Given the description of an element on the screen output the (x, y) to click on. 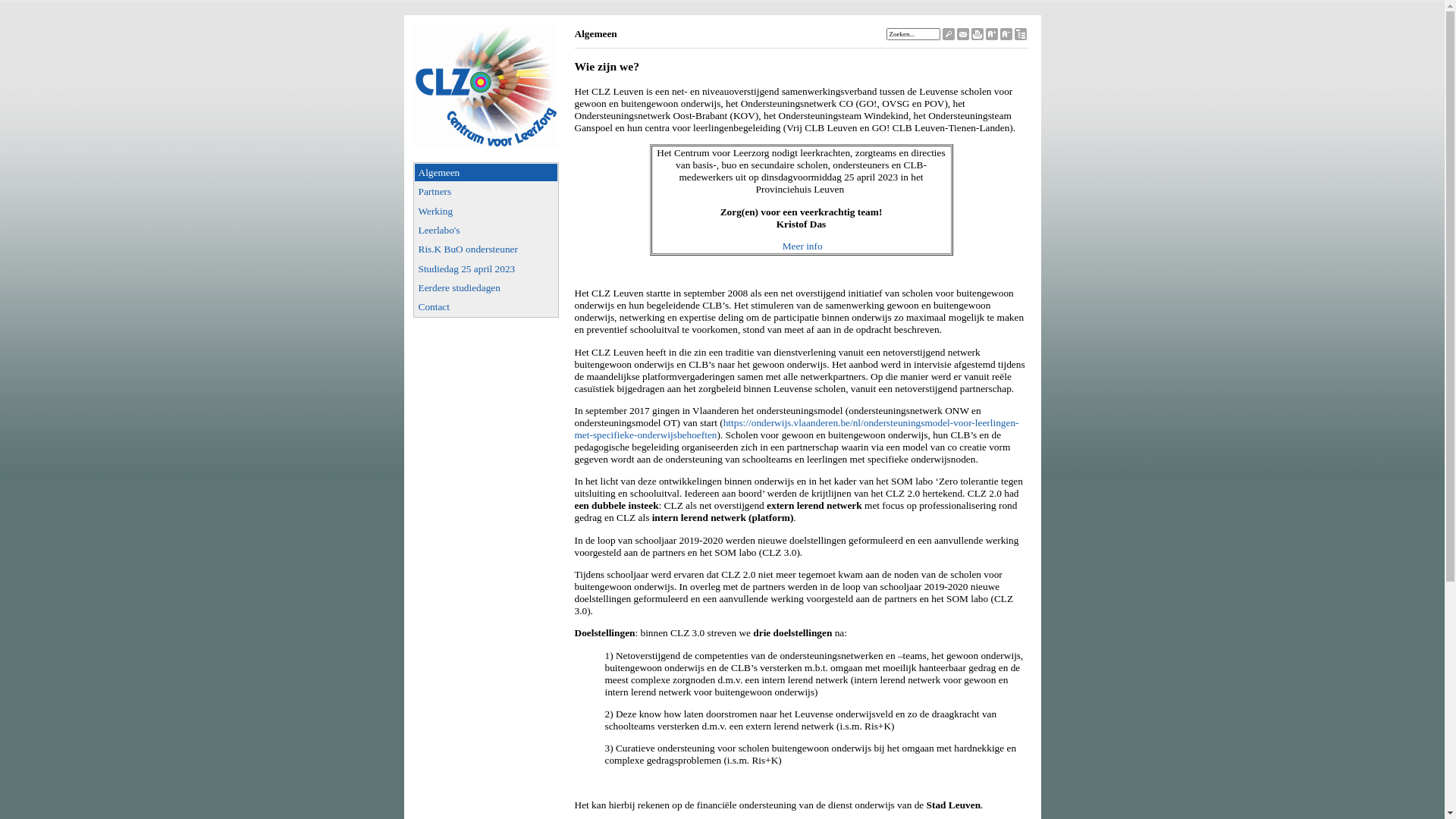
SiteMap Element type: hover (1020, 35)
Eerdere studiedagen Element type: text (486, 287)
Zoeken Element type: hover (947, 35)
Meer info Element type: text (802, 245)
Ris.K BuO ondersteuner Element type: text (486, 248)
Leerlabo's Element type: text (486, 229)
Verzend deze pagina naar uw email Element type: hover (963, 35)
Kleinere tekens Element type: hover (1005, 35)
Zoeken... Element type: text (912, 34)
Studiedag 25 april 2023 Element type: text (486, 268)
Algemeen Element type: text (486, 172)
Contact Element type: text (486, 306)
Werking Element type: text (486, 210)
Partners Element type: text (486, 191)
Printvriendelijke versie Element type: hover (976, 35)
Grotere tekens Element type: hover (991, 35)
